Given the description of an element on the screen output the (x, y) to click on. 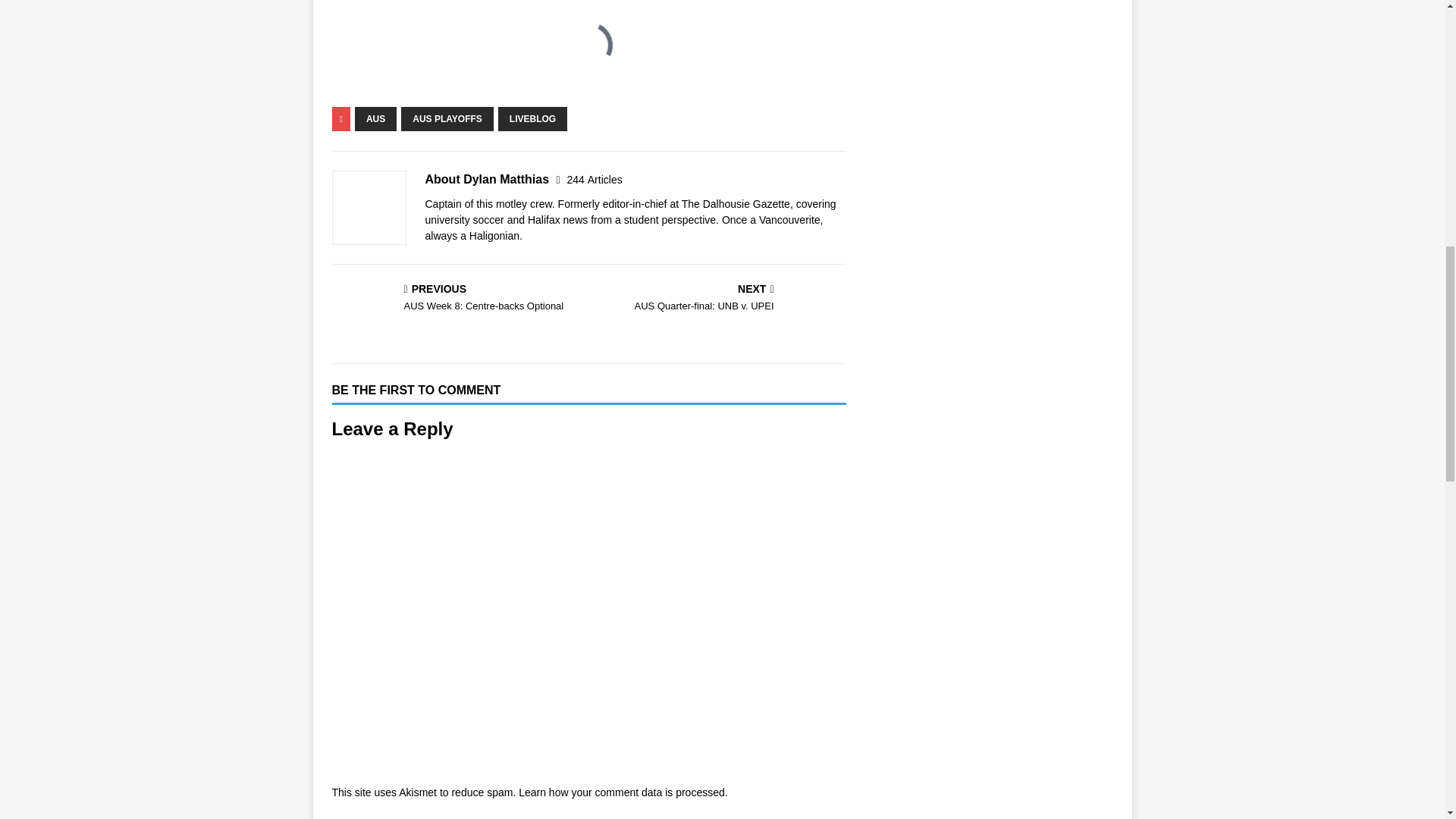
LIVEBLOG (532, 119)
Learn how your comment data is processed (621, 792)
More articles written by Dylan Matthias' (595, 179)
AUS (720, 298)
244 Articles (457, 298)
Comment Form (375, 119)
AUS PLAYOFFS (595, 179)
